Given the description of an element on the screen output the (x, y) to click on. 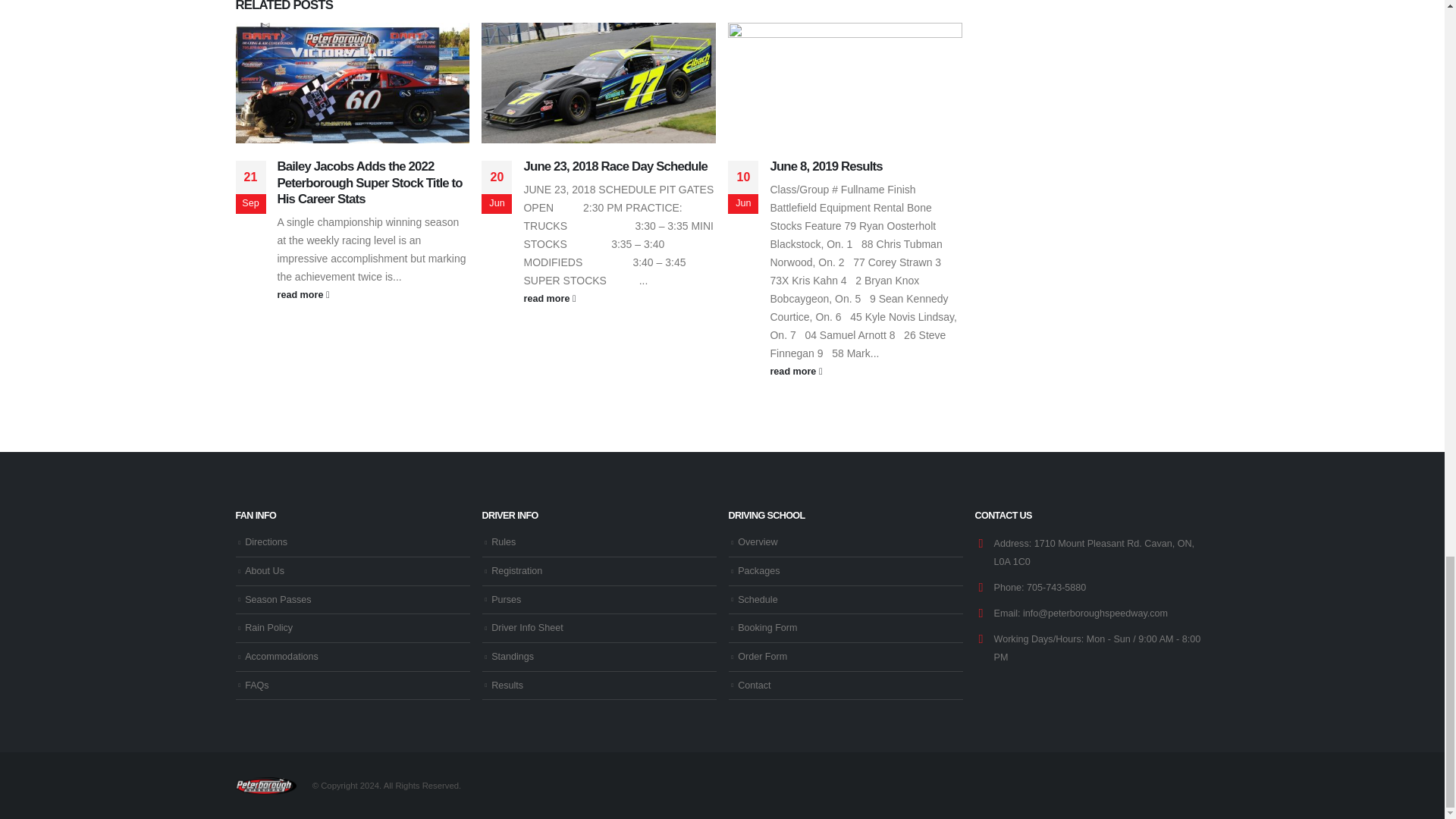
Peterborough Speedway -  (264, 785)
